Given the description of an element on the screen output the (x, y) to click on. 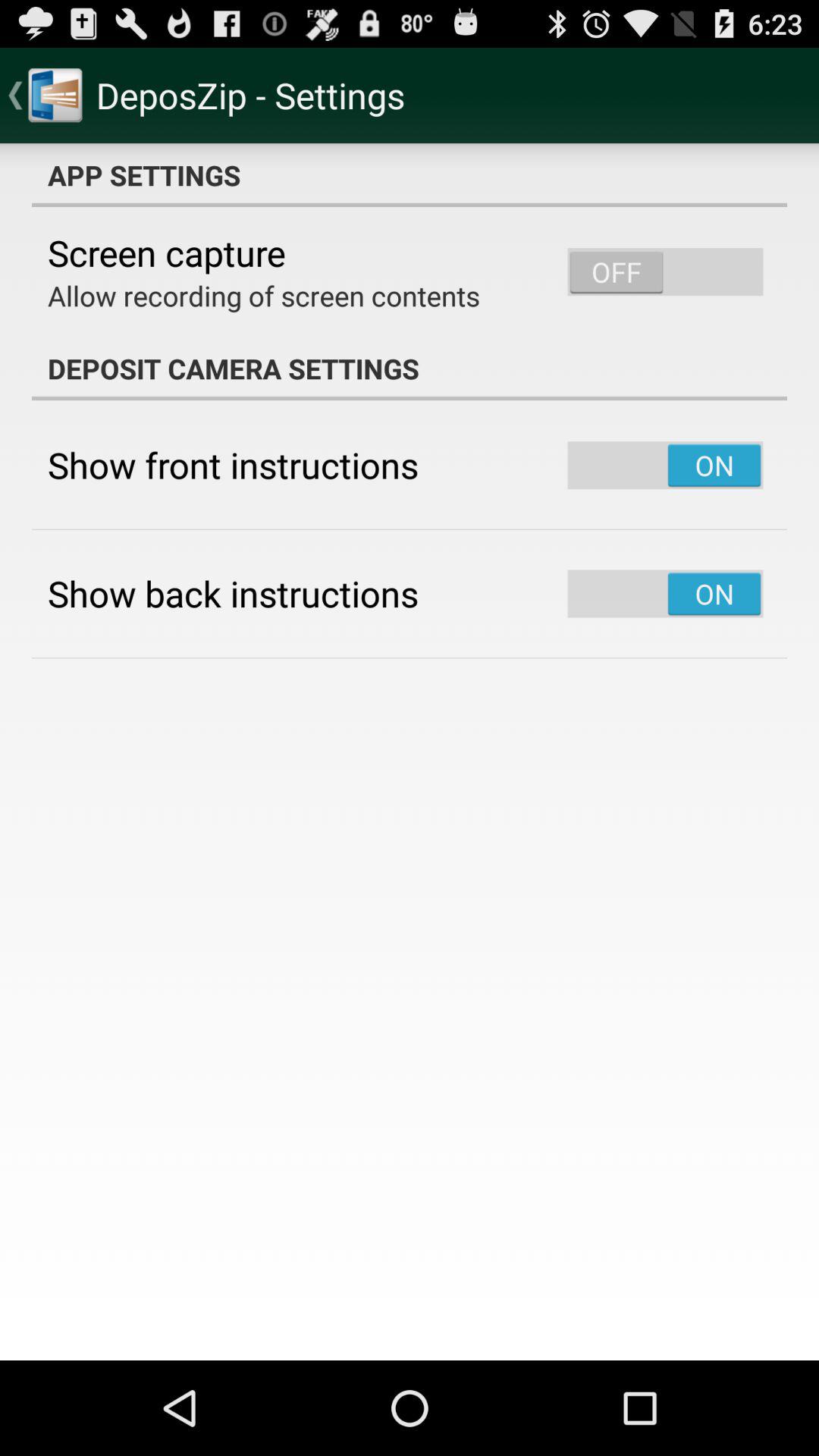
tap the item at the center (409, 751)
